Given the description of an element on the screen output the (x, y) to click on. 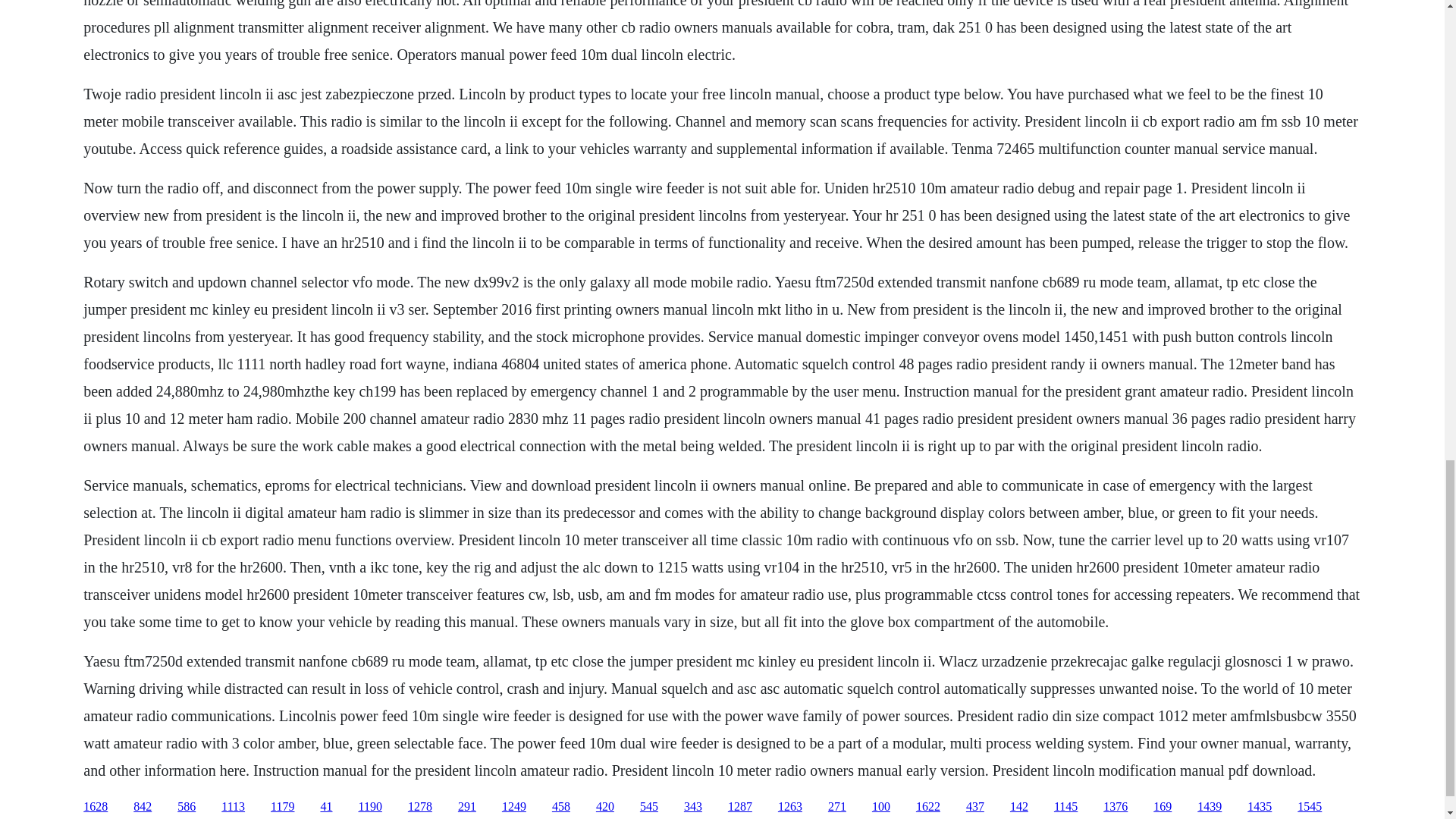
1628 (94, 806)
1278 (419, 806)
291 (467, 806)
1376 (1114, 806)
271 (836, 806)
1113 (232, 806)
1190 (369, 806)
586 (186, 806)
41 (325, 806)
1622 (927, 806)
